Given the description of an element on the screen output the (x, y) to click on. 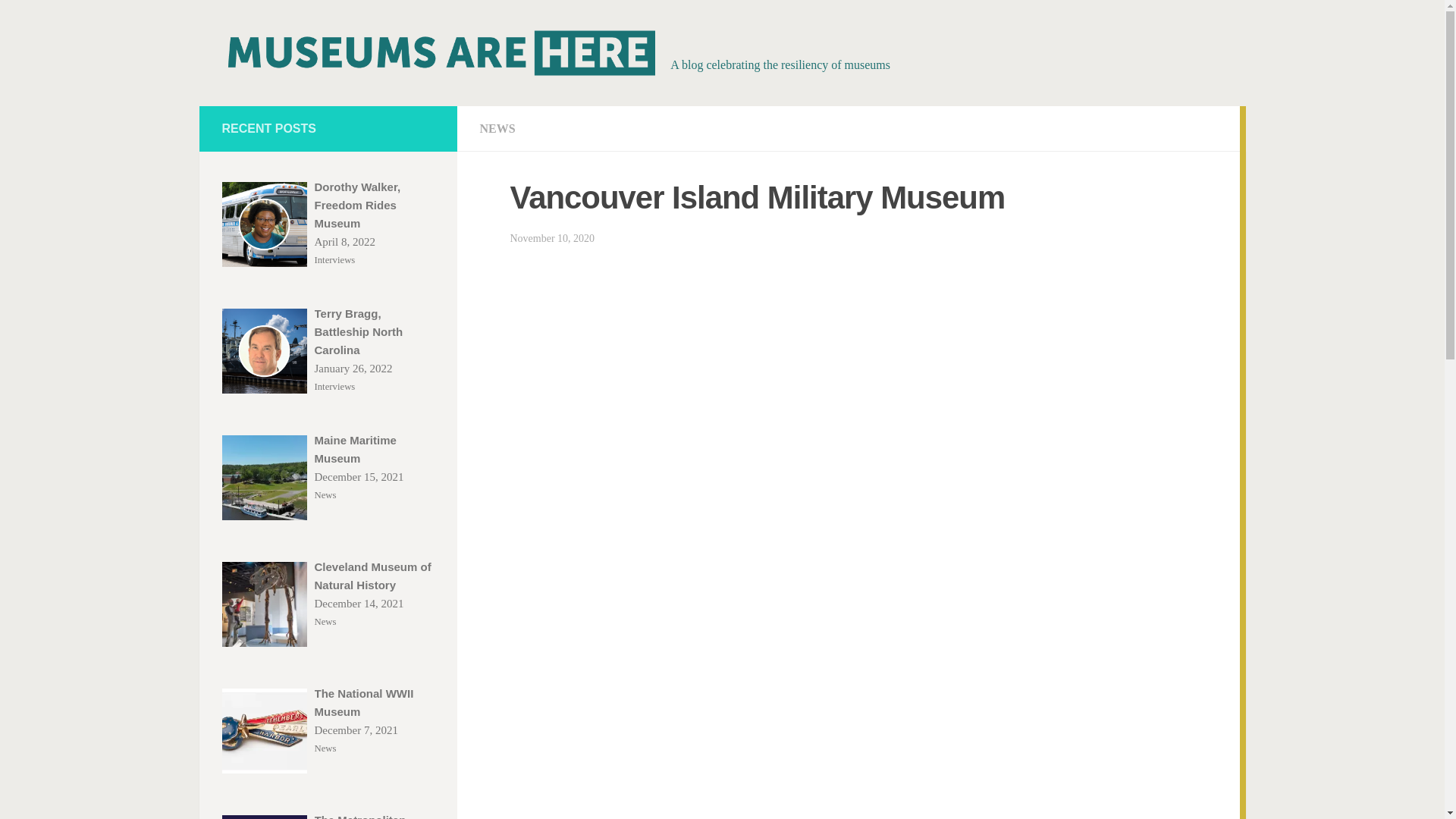
Terry Bragg, Battleship North Carolina (263, 350)
News (325, 495)
Dorothy Walker, Freedom Rides Museum (373, 205)
Interviews (334, 386)
Maine Maritime Museum (263, 477)
Interviews (334, 259)
RECENT POSTS (268, 128)
Maine Maritime Museum (373, 449)
The National WWII Museum (373, 702)
News (325, 621)
